Given the description of an element on the screen output the (x, y) to click on. 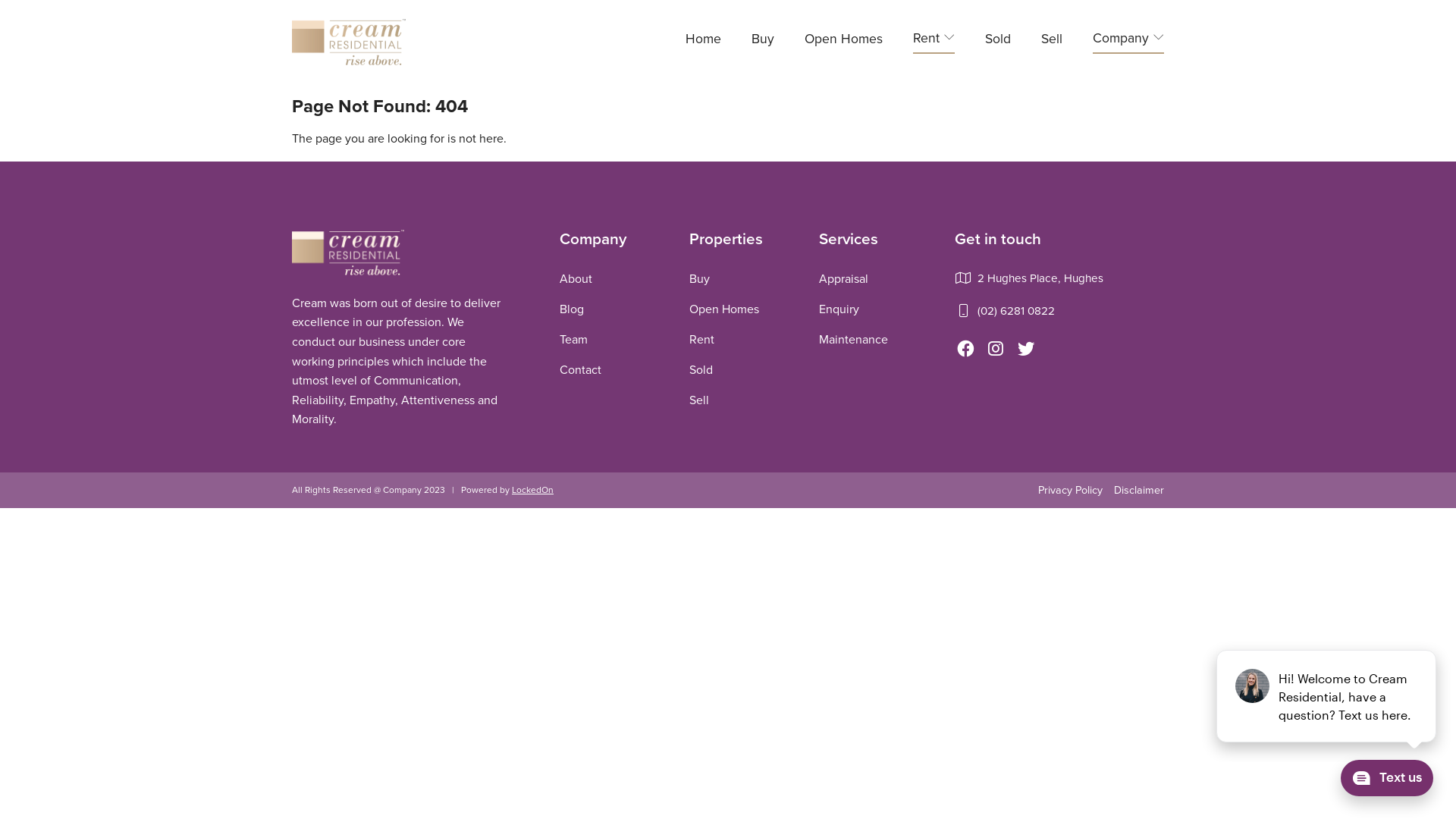
LockedOn Element type: text (532, 489)
Team Element type: text (573, 339)
Blog Element type: text (571, 308)
Contact Element type: text (580, 369)
About Element type: text (575, 278)
Privacy Policy Element type: text (1070, 489)
Buy Element type: text (699, 278)
Disclaimer Element type: text (1138, 489)
Sold Element type: text (700, 369)
Home Element type: text (703, 41)
Open Homes Element type: text (724, 308)
Maintenance Element type: text (853, 339)
Sell Element type: text (699, 399)
Enquiry Element type: text (839, 308)
Sell Element type: text (1051, 41)
Open Homes Element type: text (843, 41)
Rent Element type: text (701, 339)
Buy Element type: text (762, 41)
Sold Element type: text (997, 41)
Appraisal Element type: text (843, 278)
(02) 6281 0822 Element type: text (1015, 310)
